Given the description of an element on the screen output the (x, y) to click on. 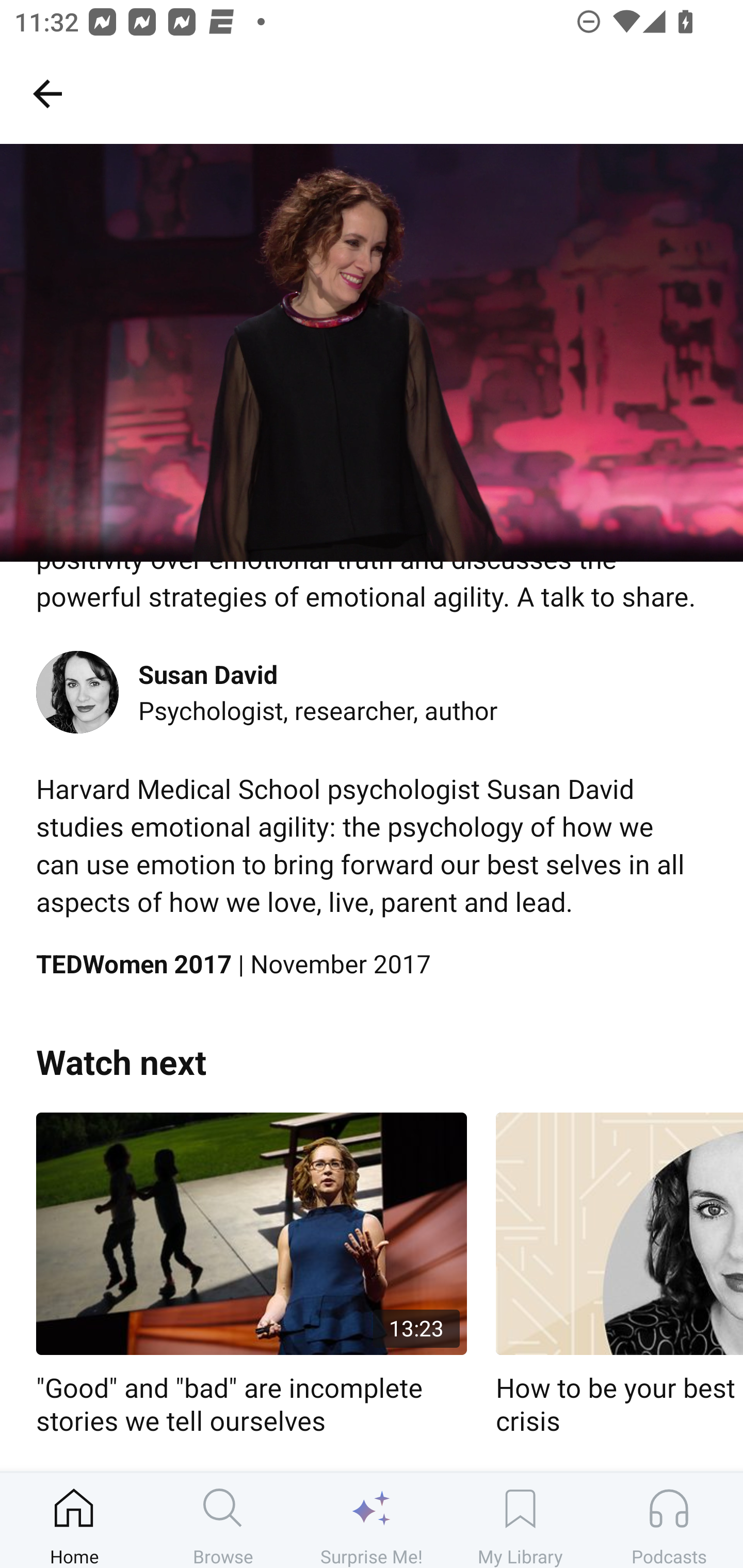
Home, back (47, 92)
How to be your best self in times of crisis (619, 1275)
Home (74, 1520)
Browse (222, 1520)
Surprise Me! (371, 1520)
My Library (519, 1520)
Podcasts (668, 1520)
